Given the description of an element on the screen output the (x, y) to click on. 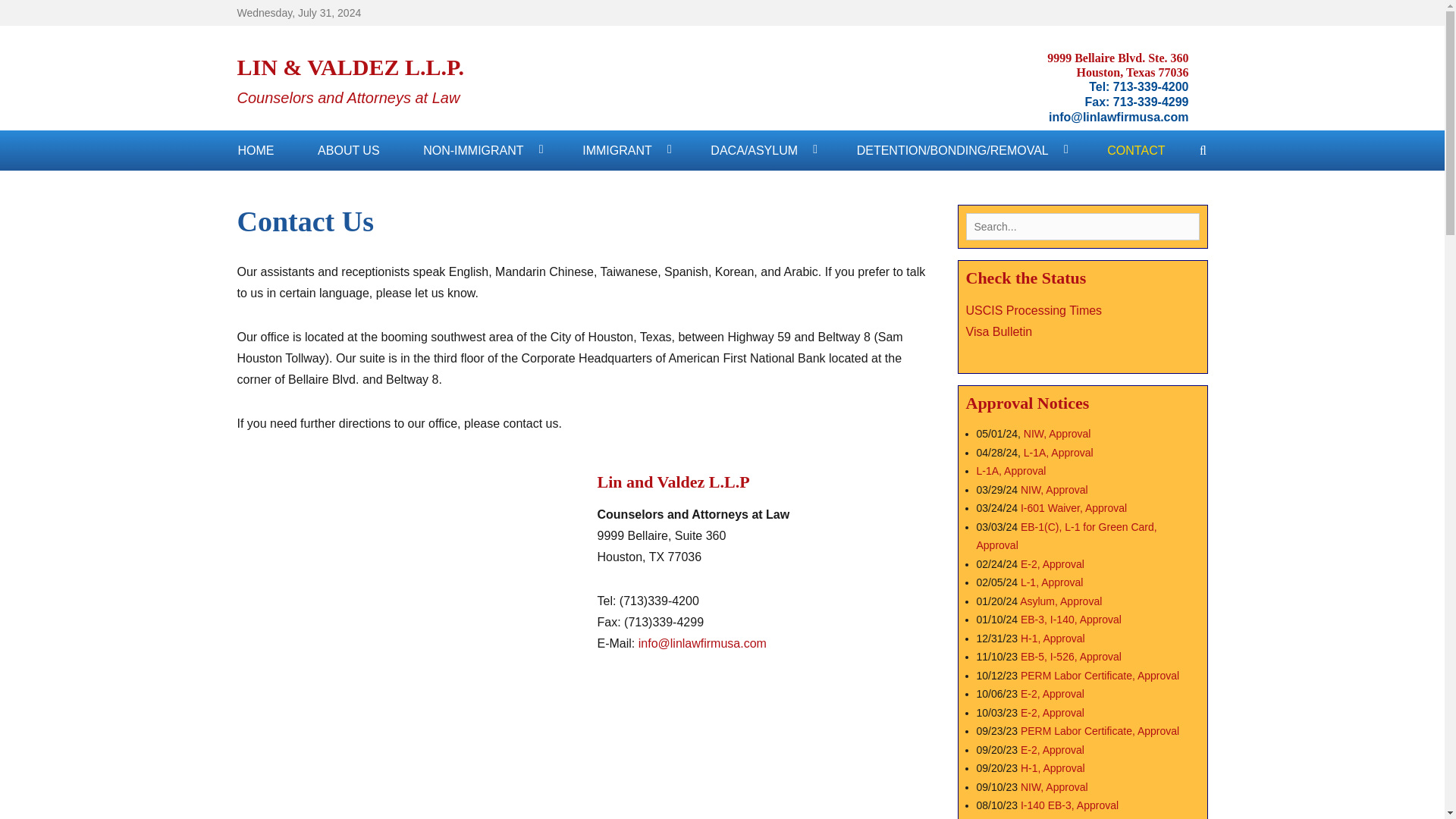
NON-IMMIGRANT (480, 150)
ABOUT US (348, 150)
Search for: (1082, 226)
Visa Bulletin  (1000, 331)
CONTACT (1135, 150)
IMMIGRANT (624, 150)
USCIS Processing Times (1034, 309)
HOME (255, 150)
Search (37, 18)
